Given the description of an element on the screen output the (x, y) to click on. 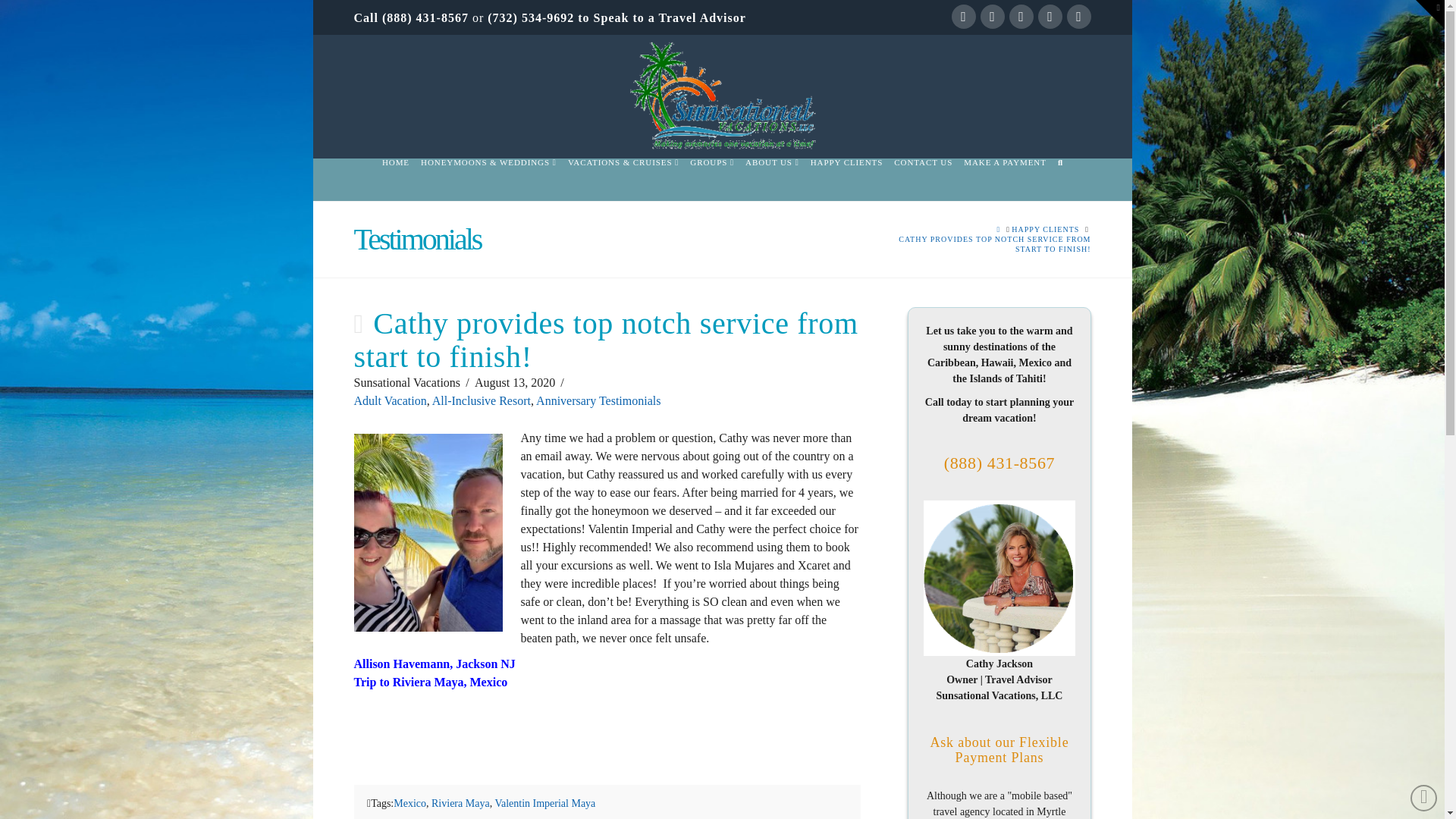
LinkedIn (1020, 16)
Facebook (962, 16)
Instagram (1048, 16)
Pinterest (1077, 16)
HOME (394, 179)
GROUPS (711, 179)
Back to Top (1423, 797)
You Are Here (979, 243)
